Given the description of an element on the screen output the (x, y) to click on. 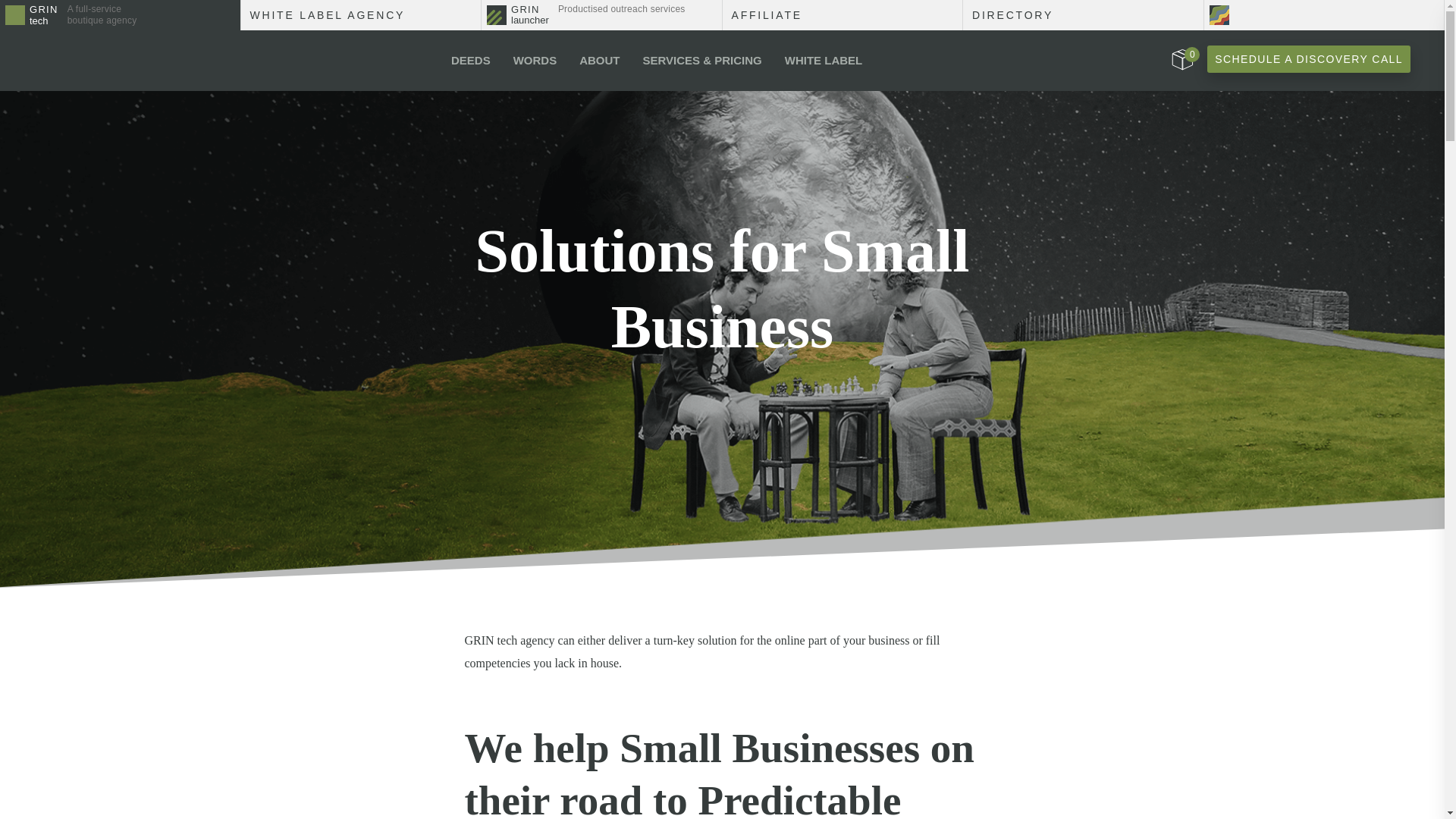
DEEDS (470, 60)
ABOUT (601, 15)
0 (598, 60)
SCHEDULE A DISCOVERY CALL (1182, 58)
DIRECTORY (1308, 58)
AFFILIATE (1083, 15)
WHITE LABEL (842, 15)
WHITE LABEL AGENCY (824, 60)
WORDS (120, 15)
